Given the description of an element on the screen output the (x, y) to click on. 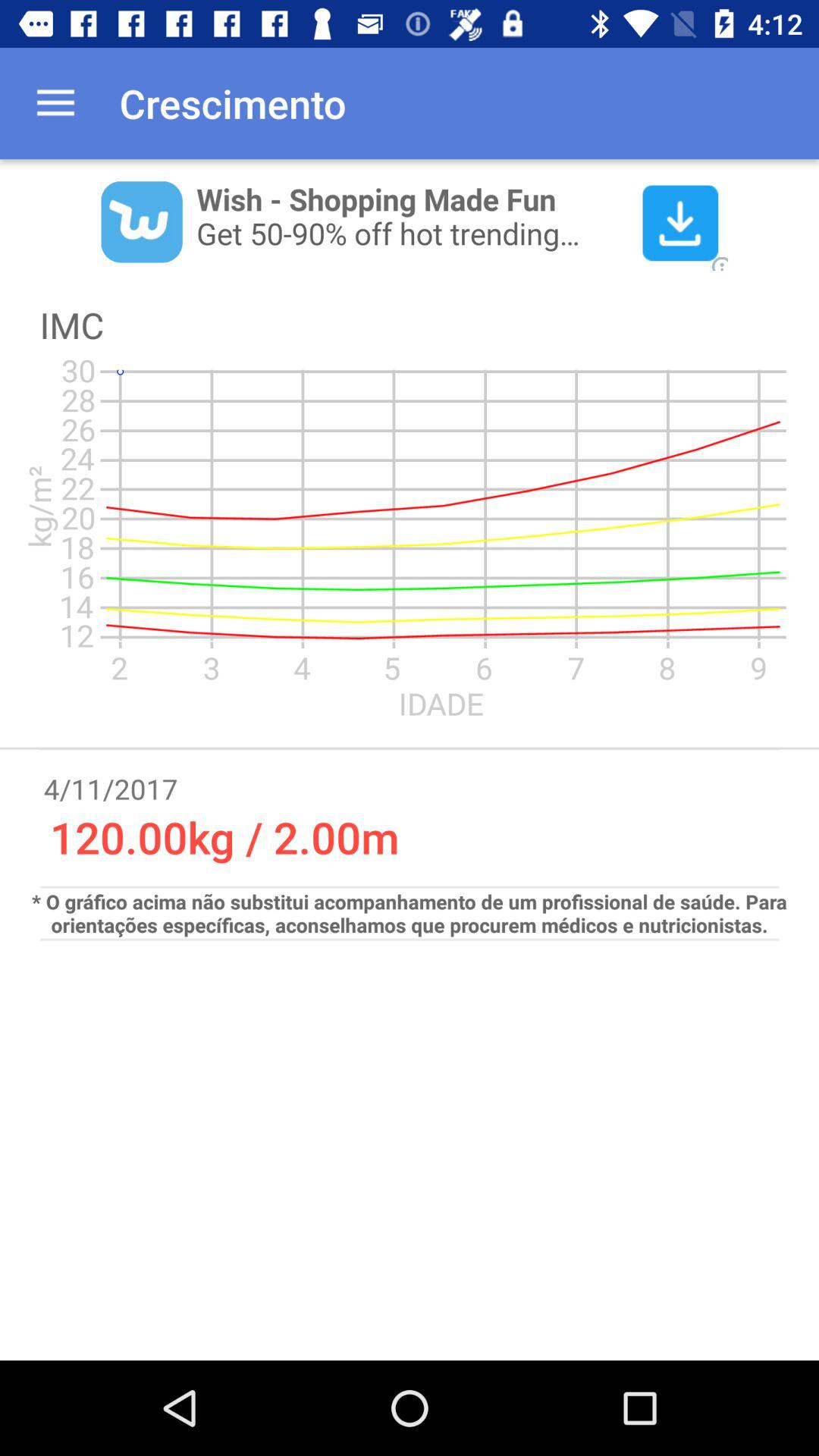
opens advertisement (409, 220)
